Given the description of an element on the screen output the (x, y) to click on. 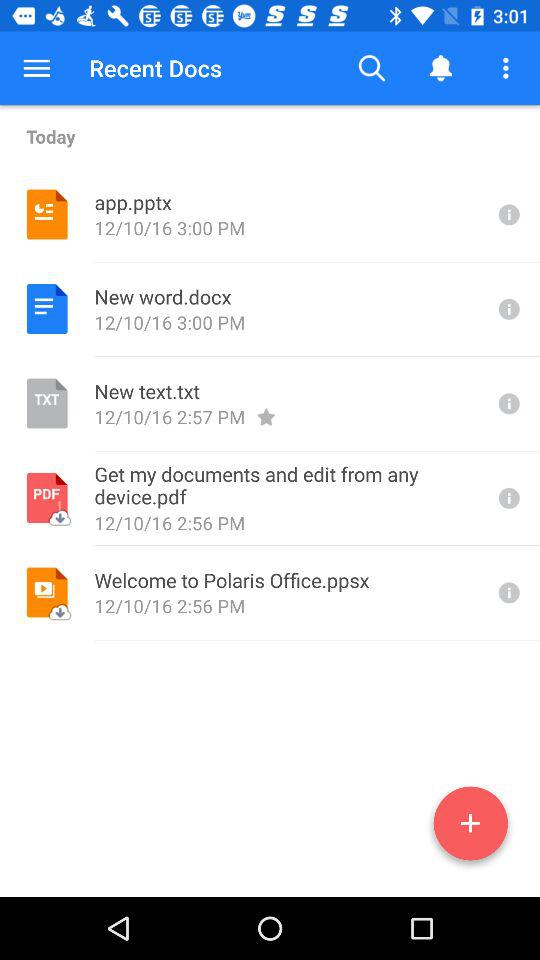
select the icon to the right of recent docs (371, 67)
